Given the description of an element on the screen output the (x, y) to click on. 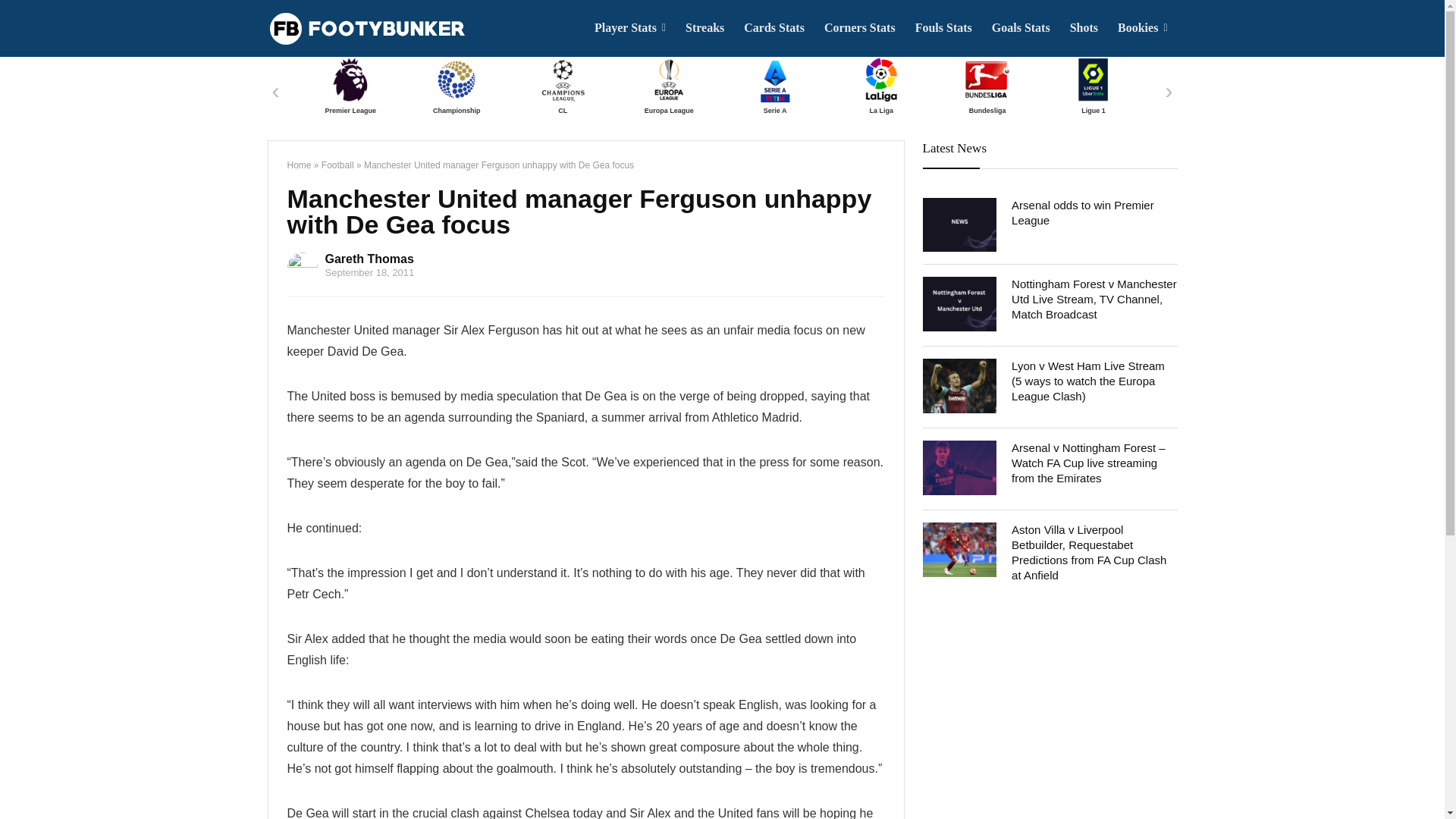
Cards Stats (773, 27)
Player Stats (630, 27)
Fouls Stats (943, 27)
Goals Stats (1020, 27)
Corners Stats (859, 27)
Shots (1083, 27)
Bookies (1142, 27)
Streaks (704, 27)
